Given the description of an element on the screen output the (x, y) to click on. 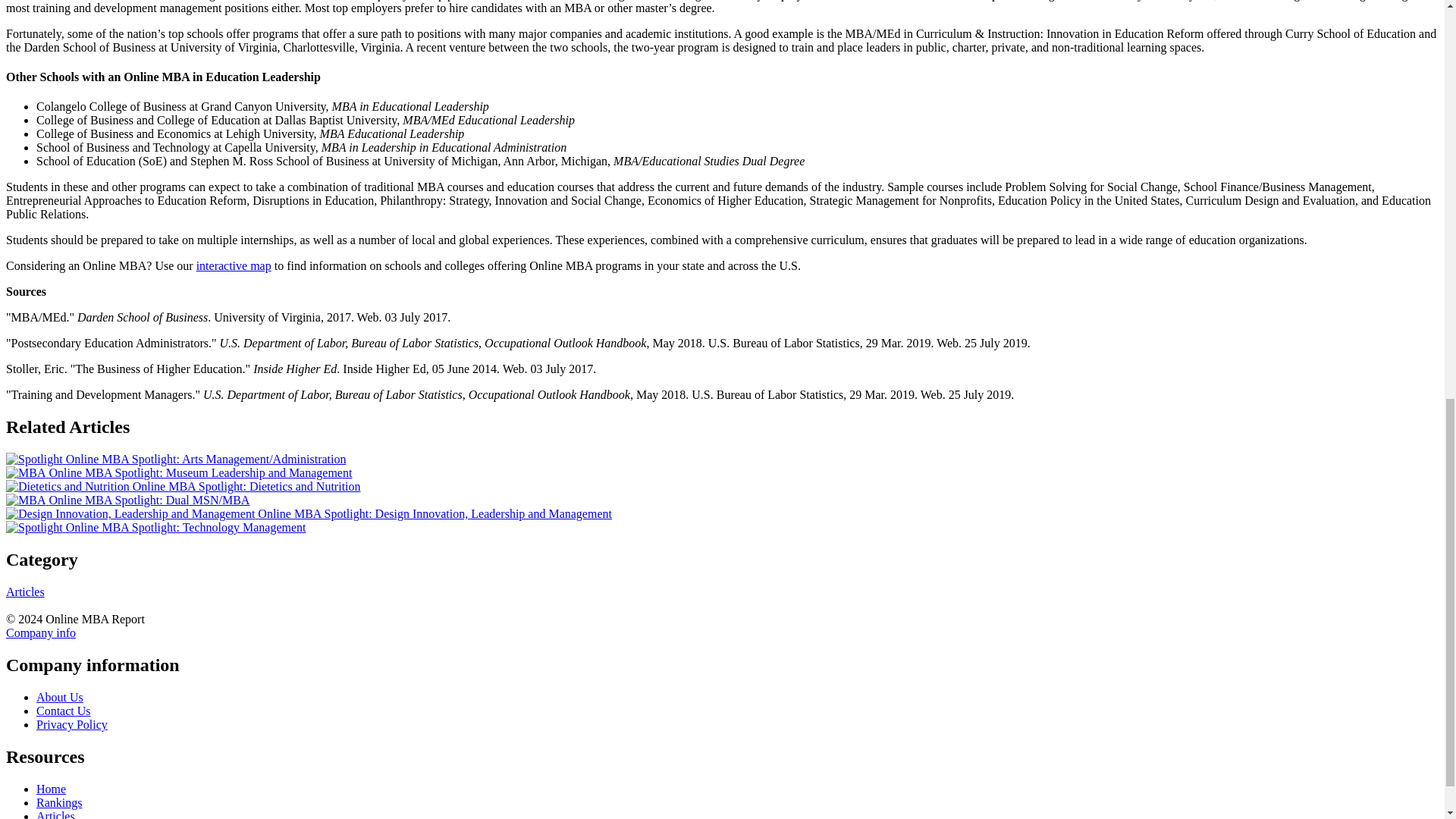
Articles (55, 814)
Rankings (58, 802)
About Us (59, 697)
Online MBA Spotlight: Technology Management (155, 526)
Contact Us (63, 710)
Privacy Policy (71, 724)
Articles (25, 591)
Articles (55, 814)
Online MBA Spotlight: Dietetics and Nutrition (183, 486)
